Given the description of an element on the screen output the (x, y) to click on. 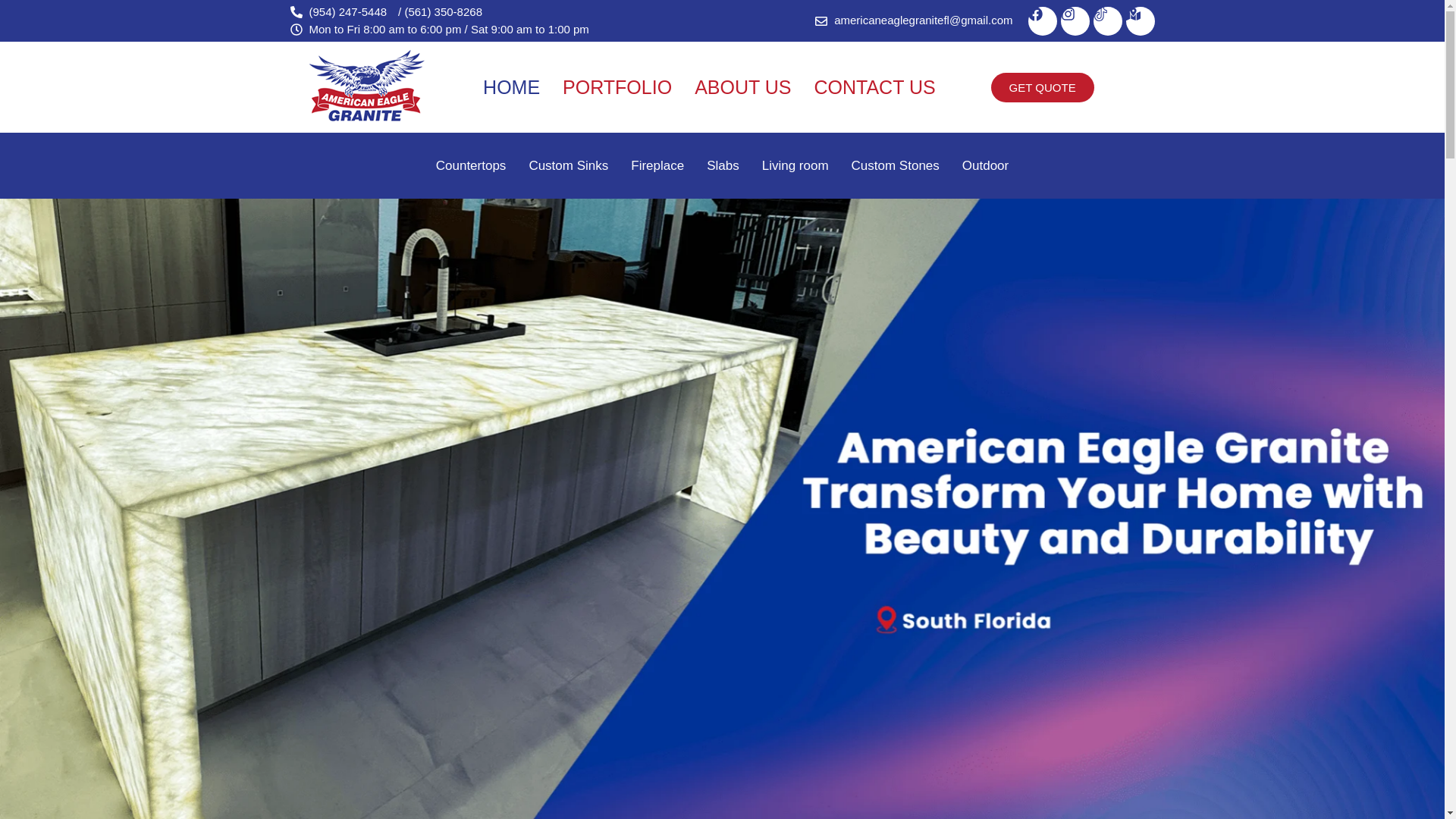
PORTFOLIO (616, 87)
Living room (795, 165)
Slabs (723, 165)
HOME (511, 87)
Custom Stones (895, 165)
GET QUOTE (1042, 87)
Countertops (471, 165)
ABOUT US (742, 87)
Fireplace (657, 165)
Outdoor (985, 165)
CONTACT US (874, 87)
Custom Sinks (568, 165)
GET QUOTE (1384, 292)
